Given the description of an element on the screen output the (x, y) to click on. 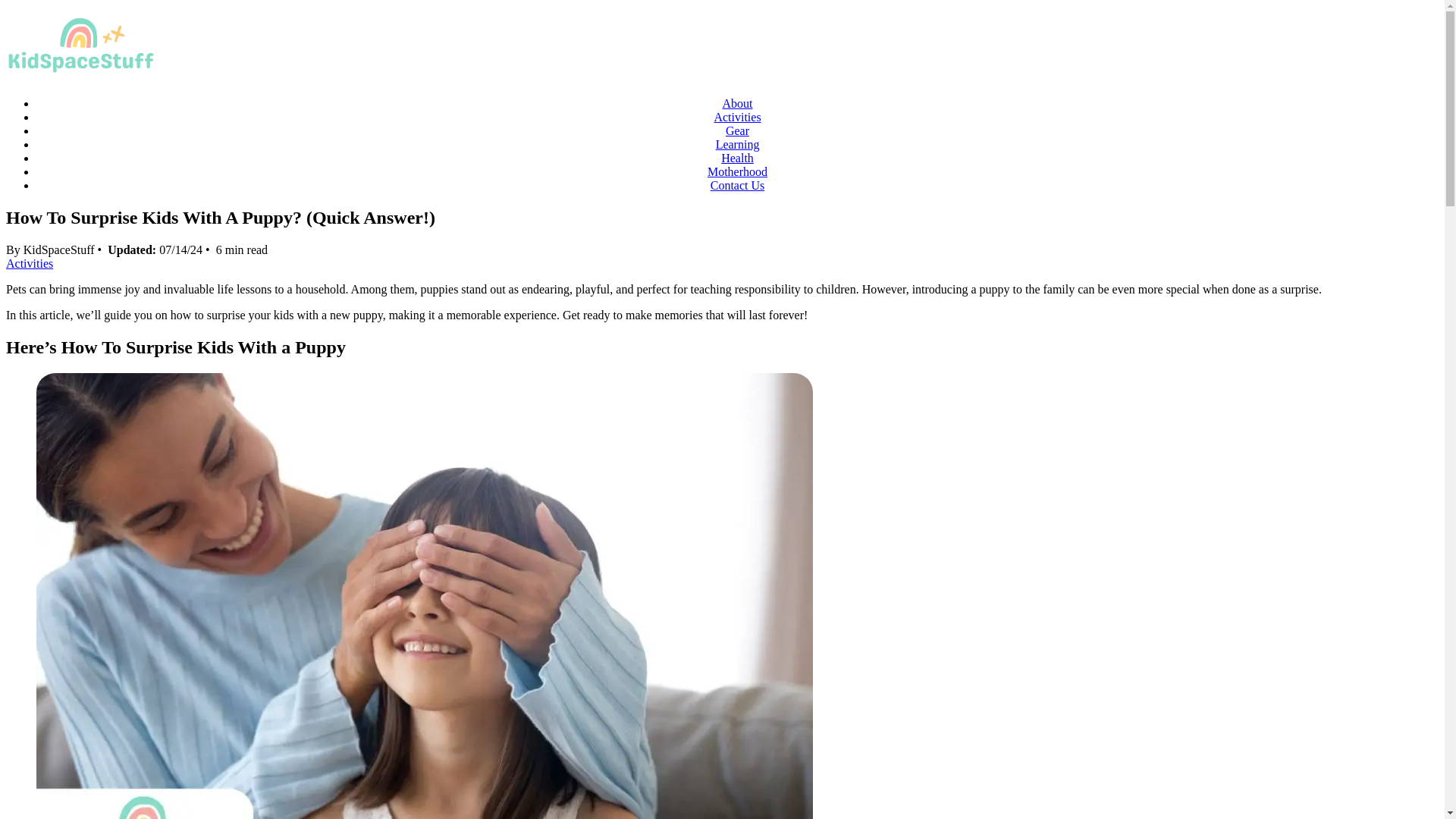
Learning (738, 144)
About (737, 103)
Motherhood (737, 171)
Gear (737, 130)
Activities (28, 263)
Health (737, 157)
Activities (736, 116)
Contact Us (737, 185)
